Given the description of an element on the screen output the (x, y) to click on. 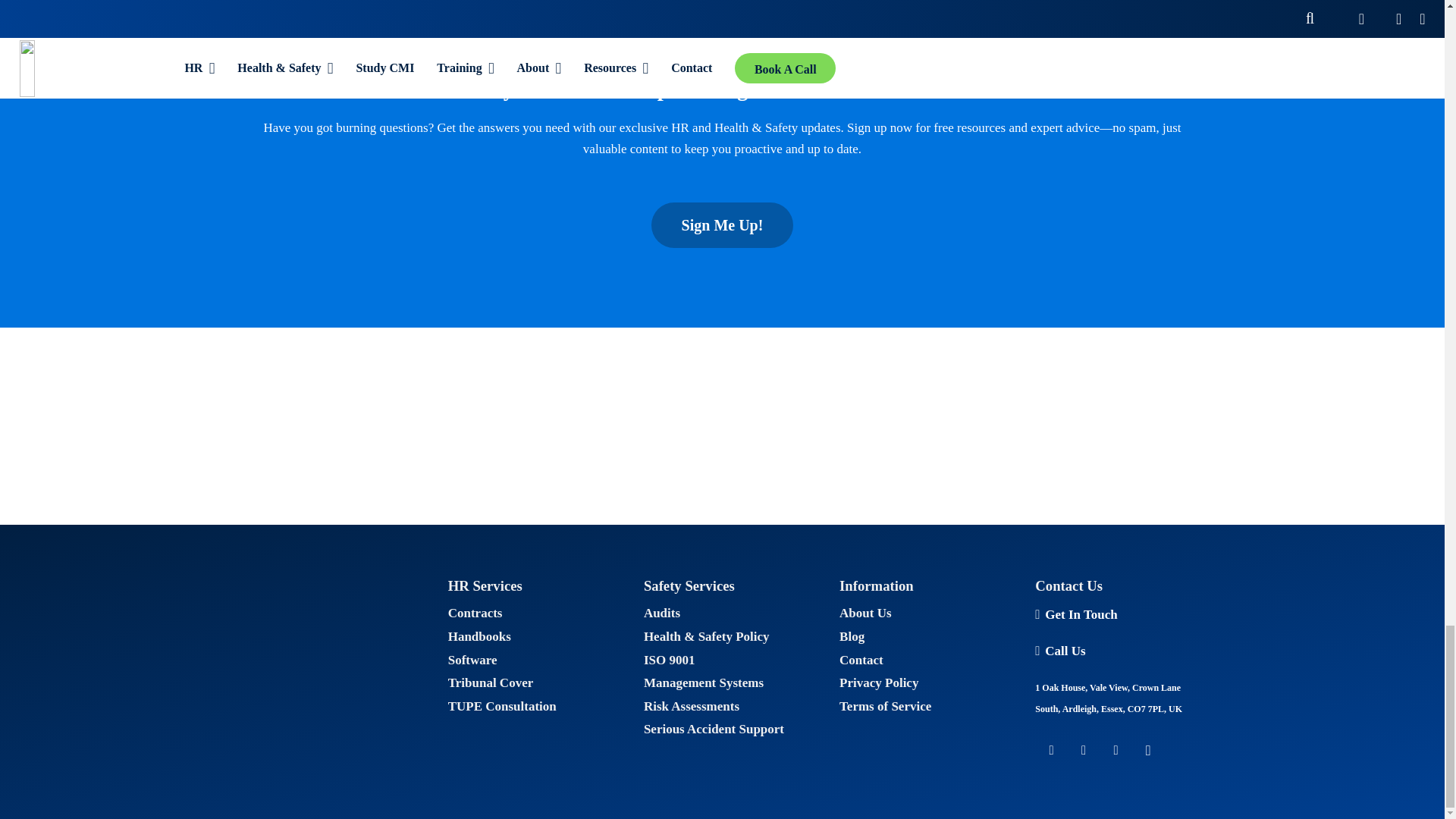
Instagram (1148, 750)
Facebook (1051, 750)
LinkedIn (1083, 750)
YouTube (1115, 750)
